Given the description of an element on the screen output the (x, y) to click on. 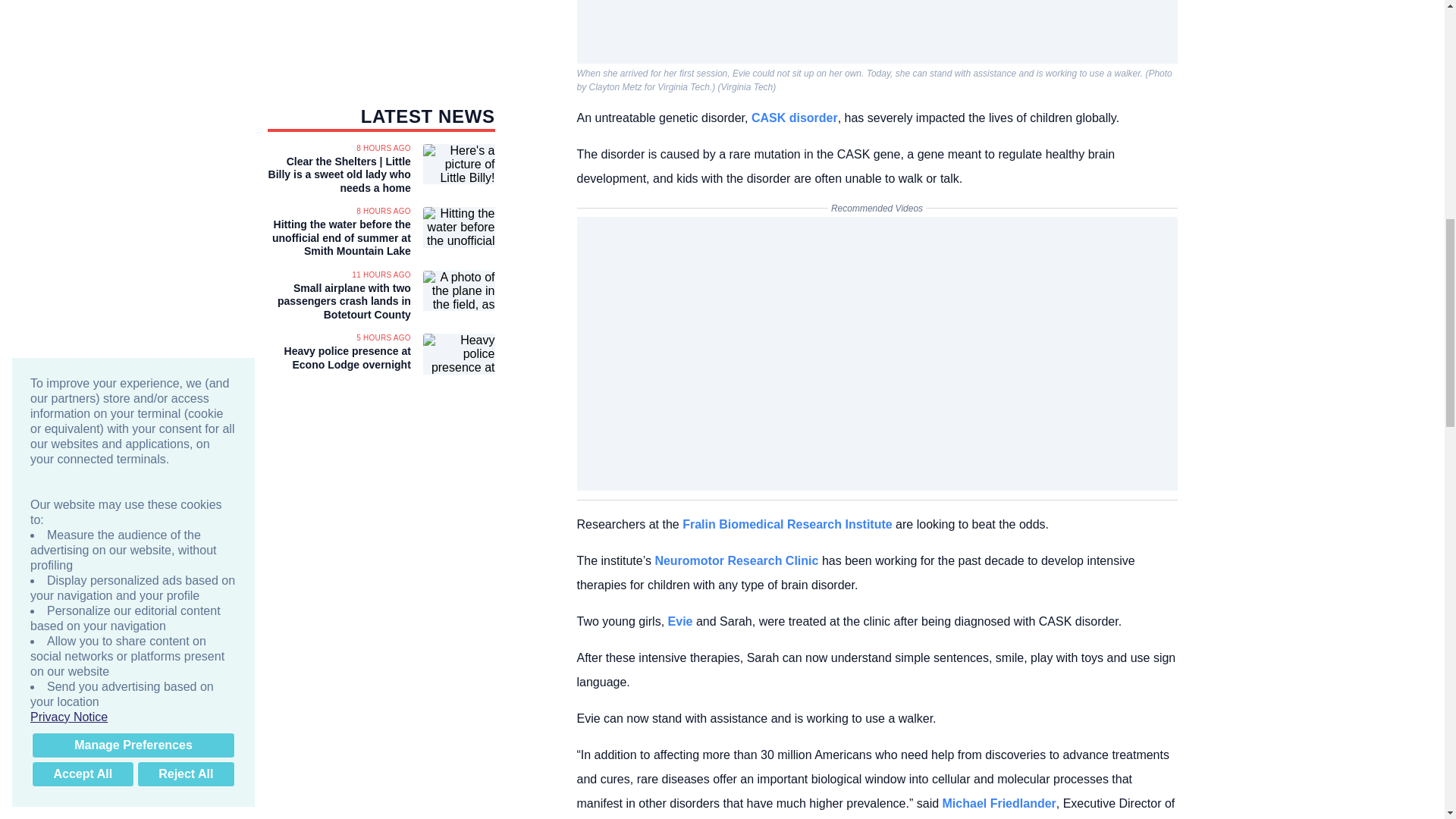
Heavy police presence at Econo Lodge overnight (338, 357)
